Given the description of an element on the screen output the (x, y) to click on. 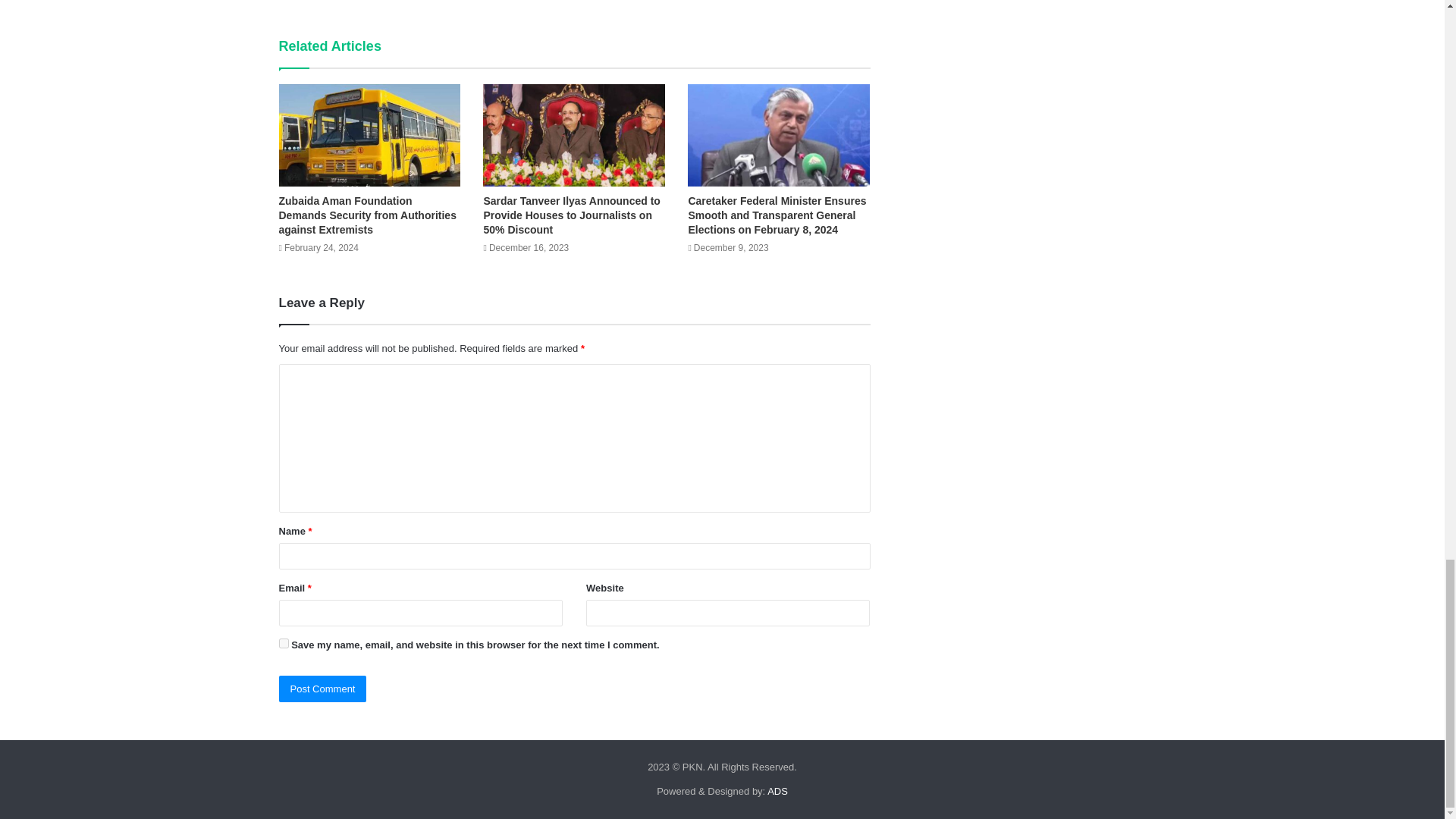
yes (283, 643)
Post Comment (322, 688)
